Given the description of an element on the screen output the (x, y) to click on. 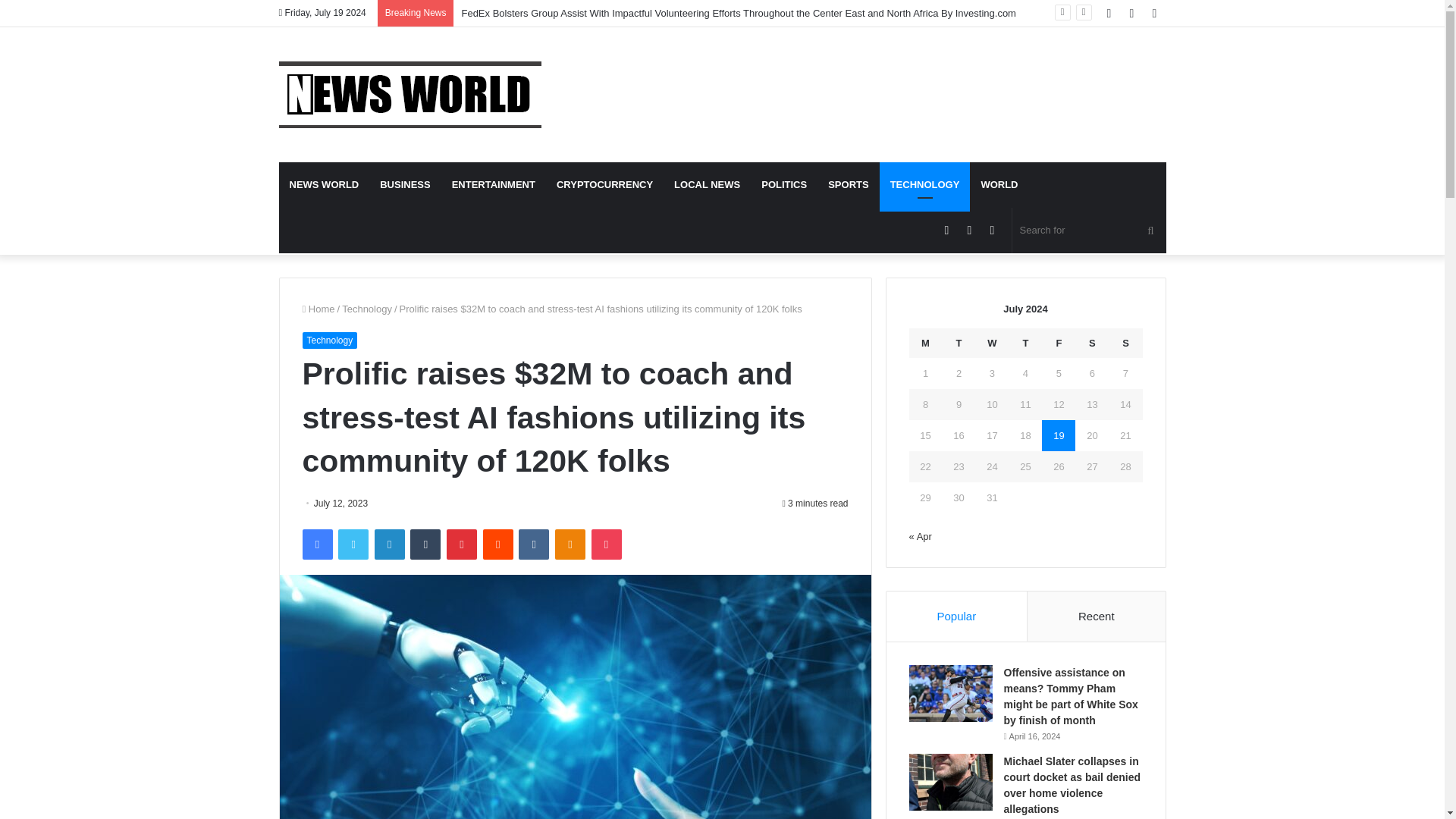
ENTERTAINMENT (493, 185)
Tumblr (425, 544)
SPORTS (847, 185)
Facebook (316, 544)
Search for (1088, 230)
Tumblr (425, 544)
Reddit (498, 544)
Odnoklassniki (569, 544)
Pinterest (461, 544)
Twitter (352, 544)
LOCAL NEWS (707, 185)
CRYPTOCURRENCY (604, 185)
VKontakte (533, 544)
NEWS WORLD (324, 185)
